Given the description of an element on the screen output the (x, y) to click on. 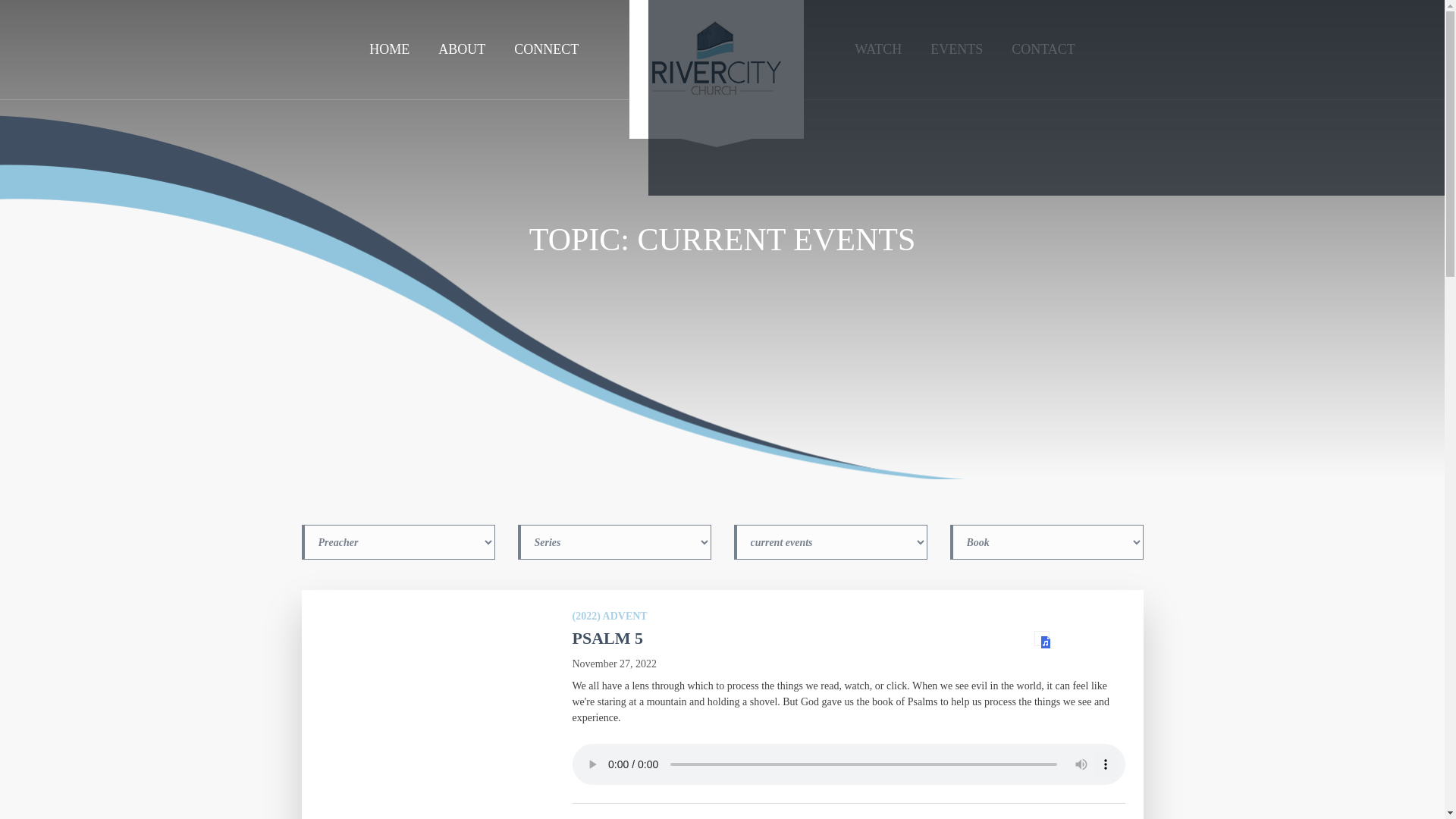
CONNECT (545, 49)
CONTACT (1043, 49)
PSALM 5 (607, 637)
Preacher (398, 541)
Series (613, 541)
LOGO (715, 73)
Share via Facebook (784, 97)
Share via Twitter (1307, 97)
Audio (1041, 638)
Book (1045, 541)
